Given the description of an element on the screen output the (x, y) to click on. 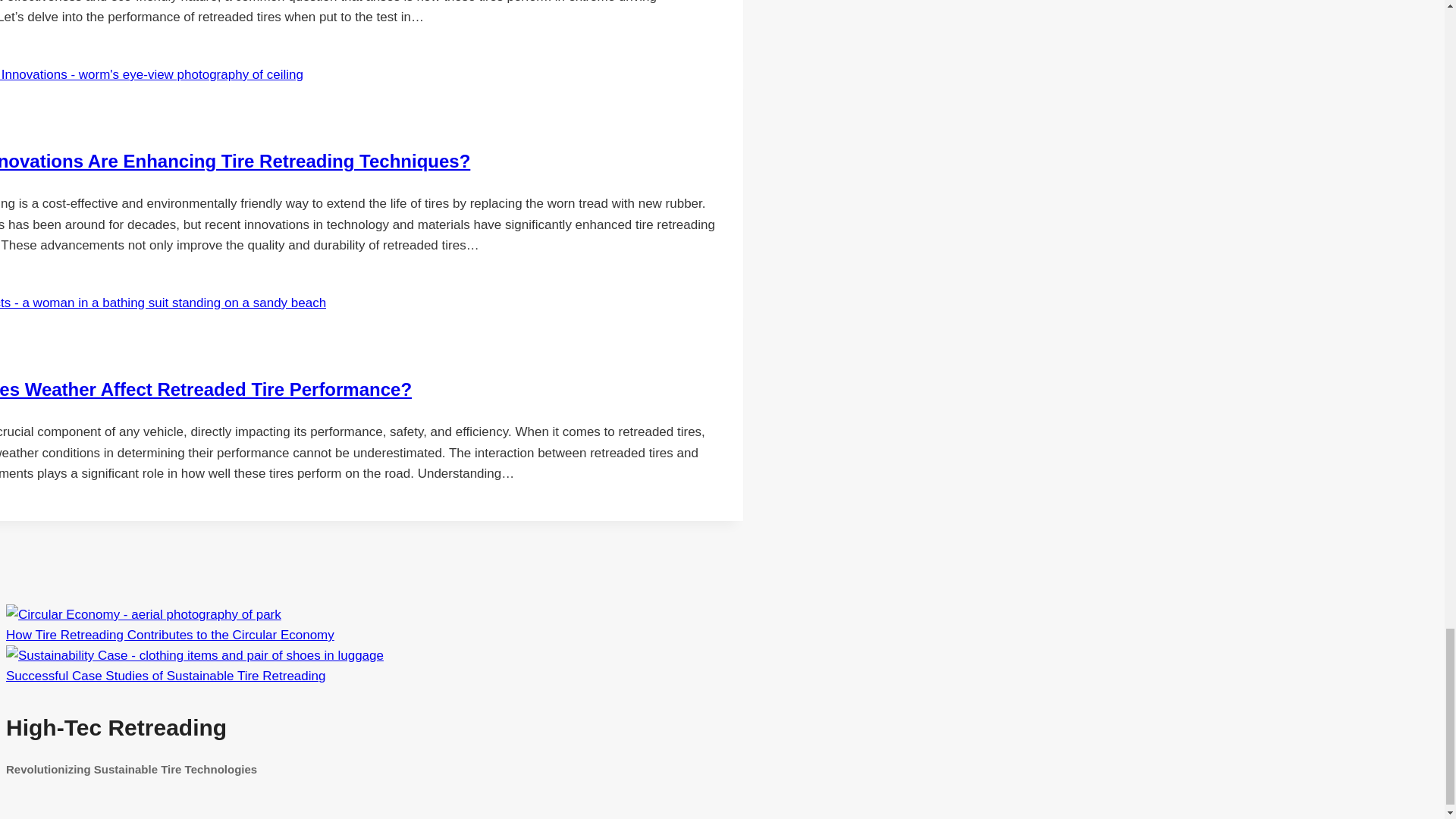
How Does Weather Affect Retreaded Tire Performance? (206, 389)
How Tire Retreading Contributes to the Circular Economy (169, 635)
What Innovations Are Enhancing Tire Retreading Techniques? (235, 160)
Successful Case Studies of Sustainable Tire Retreading (164, 676)
How Tire Retreading Contributes to the Circular Economy (143, 614)
Successful Case Studies of Sustainable Tire Retreading (194, 655)
